Given the description of an element on the screen output the (x, y) to click on. 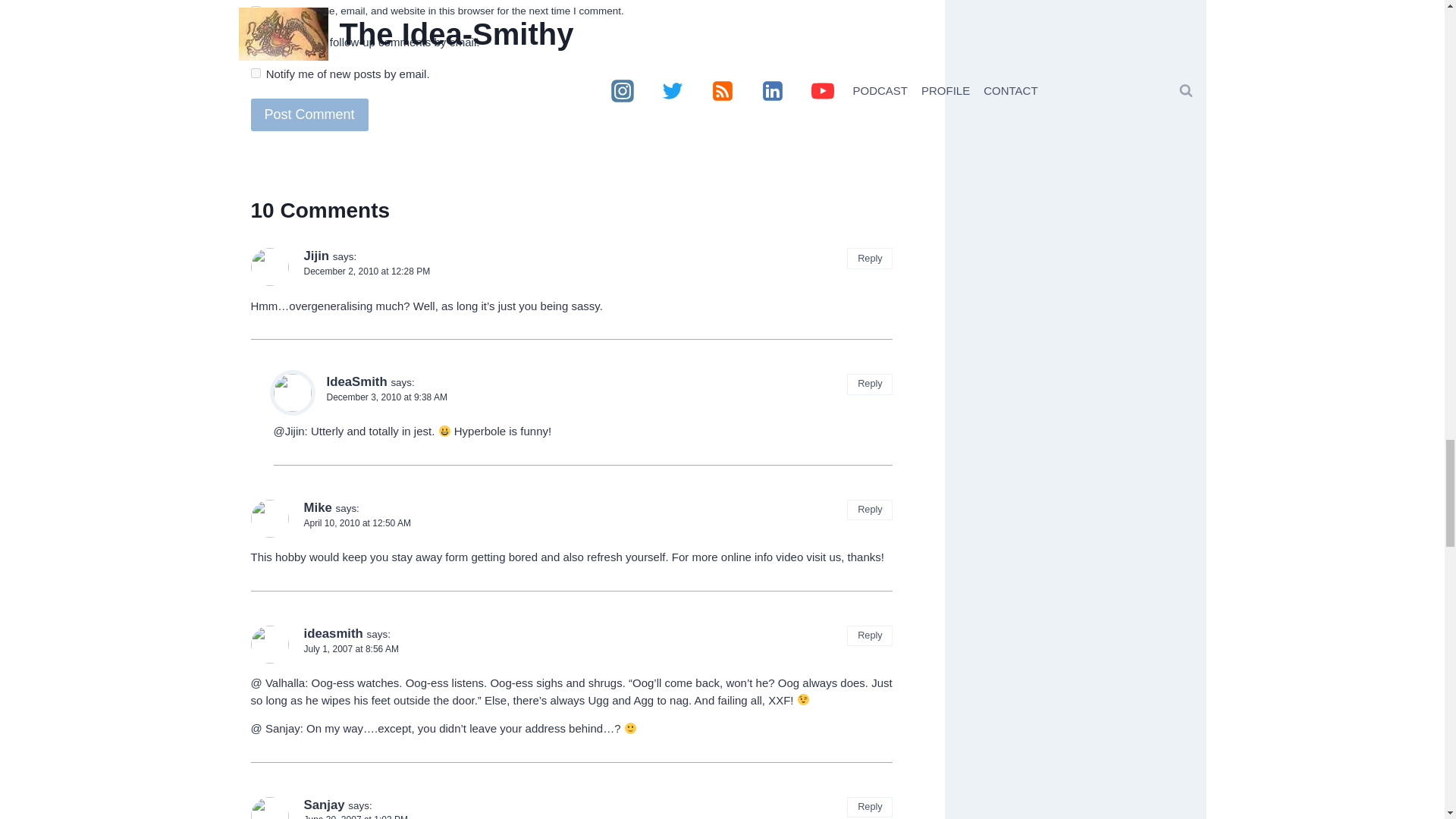
subscribe (255, 40)
yes (255, 10)
subscribe (255, 72)
Post Comment (309, 114)
